Given the description of an element on the screen output the (x, y) to click on. 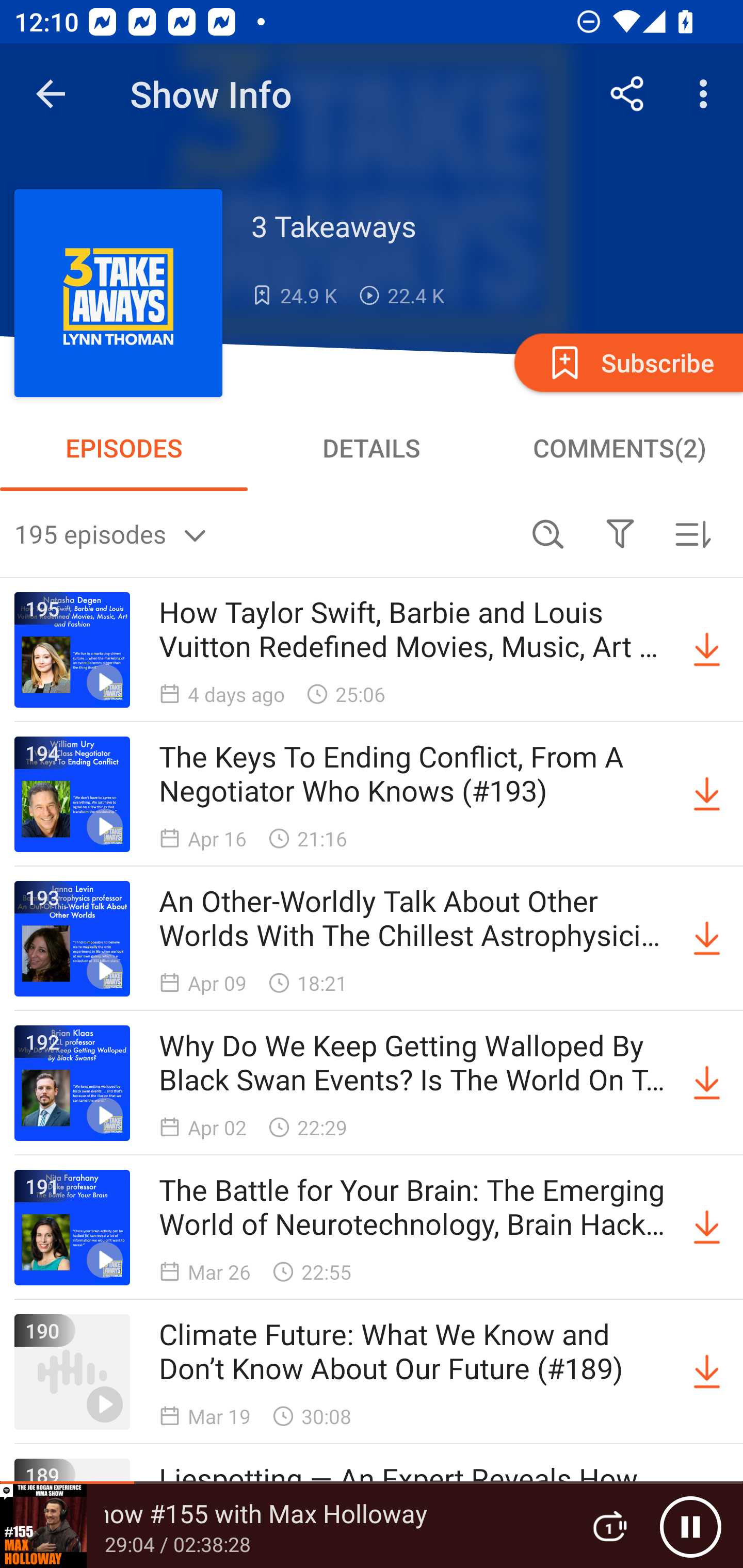
Navigate up (50, 93)
Share (626, 93)
More options (706, 93)
Subscribe (627, 361)
EPISODES (123, 447)
DETAILS (371, 447)
COMMENTS(2) (619, 447)
195 episodes  (262, 533)
 Search (547, 533)
 (619, 533)
 Sorted by newest first (692, 533)
Download (706, 649)
Download (706, 793)
Download (706, 939)
Download (706, 1083)
Download (706, 1227)
Download (706, 1371)
Pause (690, 1526)
